Given the description of an element on the screen output the (x, y) to click on. 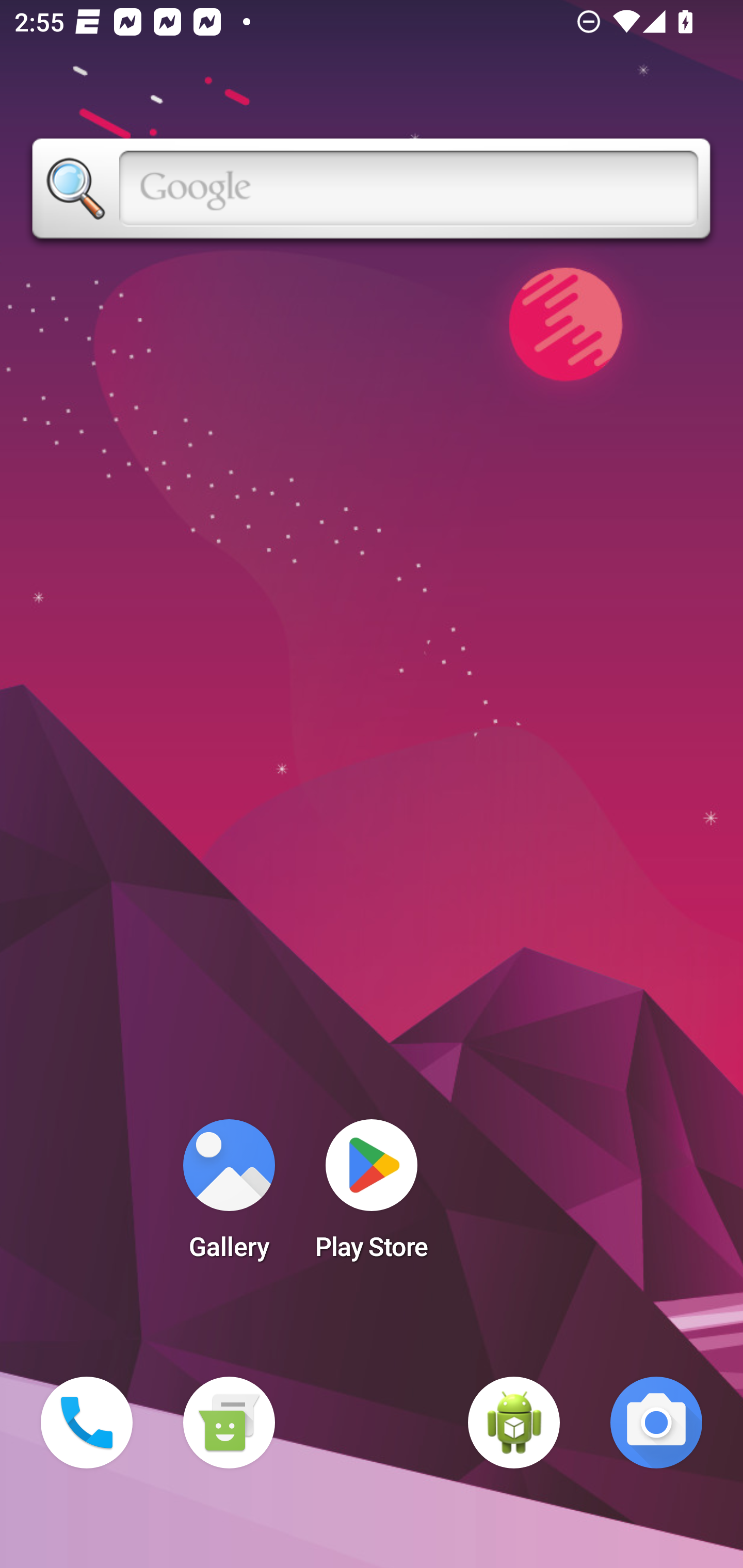
Gallery (228, 1195)
Play Store (371, 1195)
Phone (86, 1422)
Messaging (228, 1422)
WebView Browser Tester (513, 1422)
Camera (656, 1422)
